Given the description of an element on the screen output the (x, y) to click on. 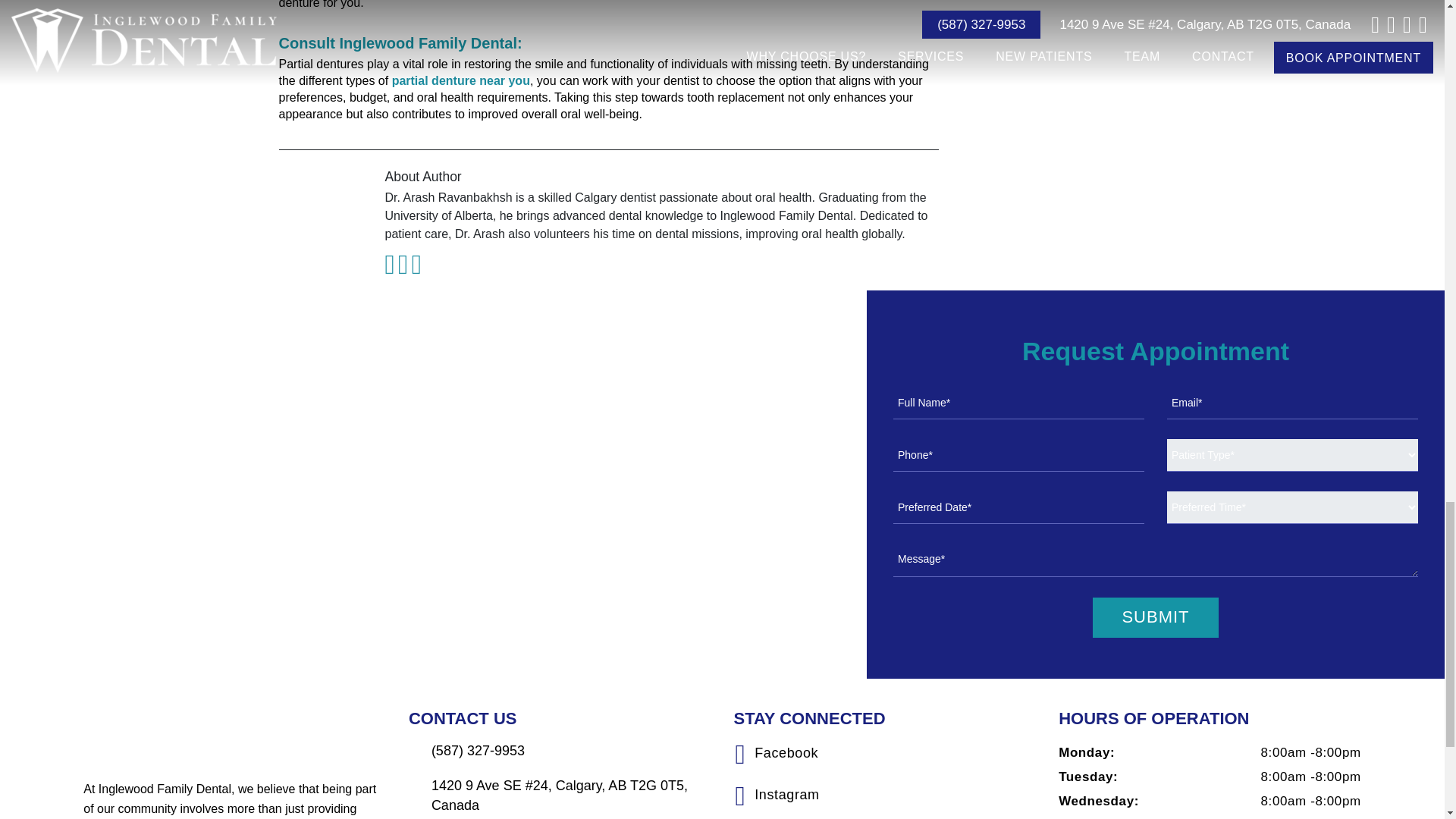
Submit (1155, 617)
